Given the description of an element on the screen output the (x, y) to click on. 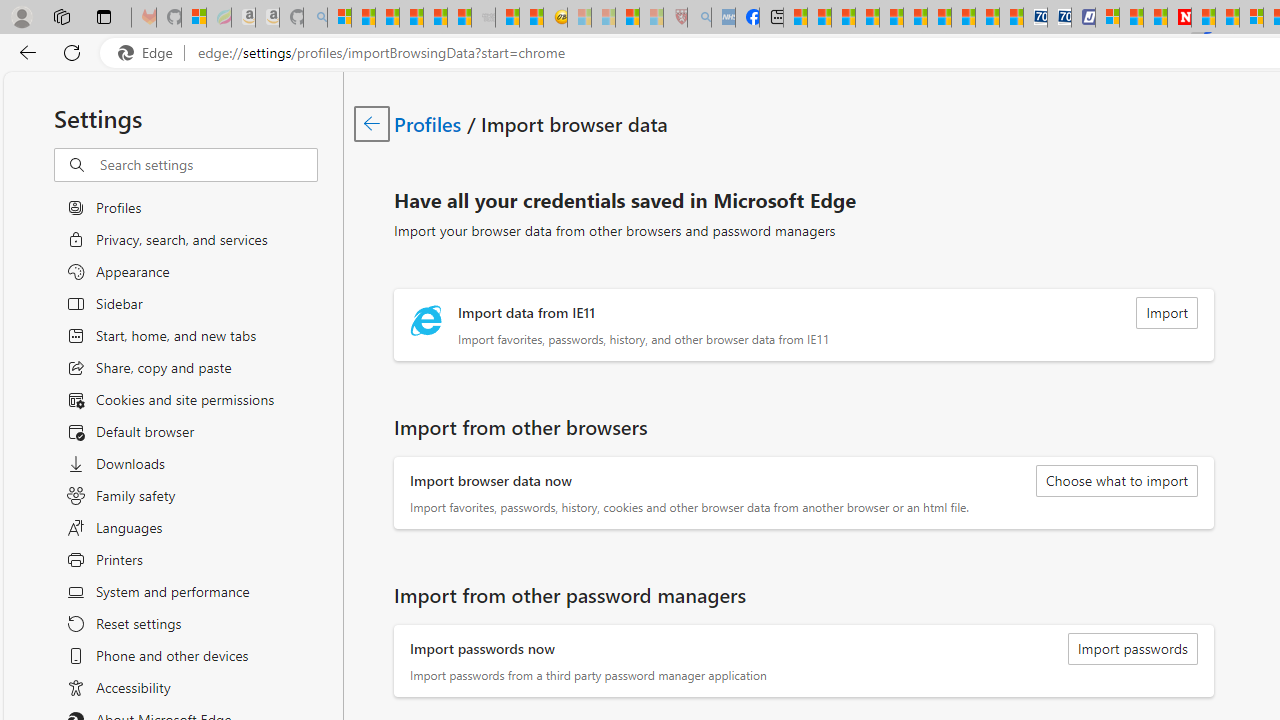
Profiles (429, 123)
Import passwords (1132, 648)
Cheap Hotels - Save70.com (1059, 17)
